Given the description of an element on the screen output the (x, y) to click on. 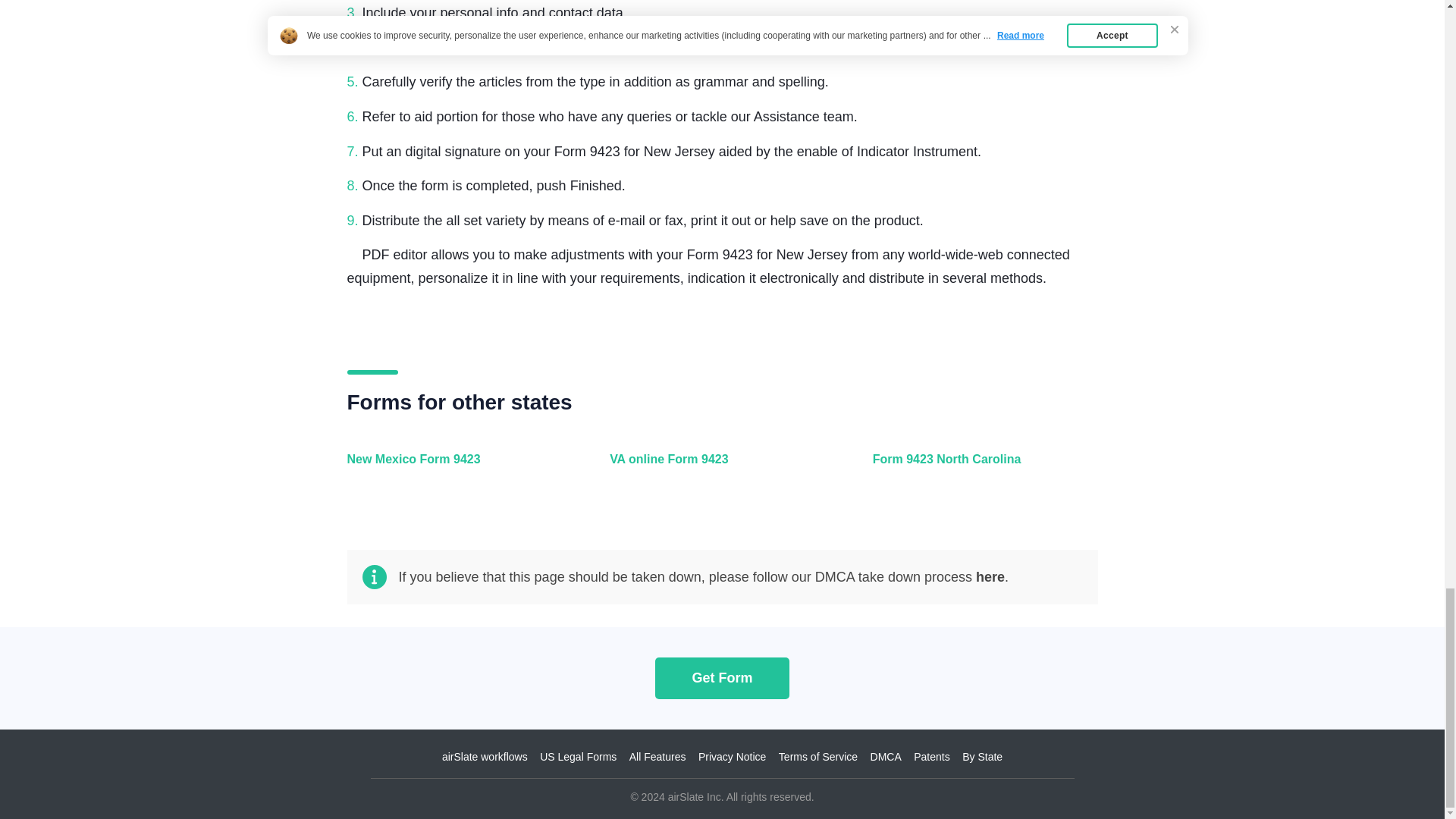
Patents (931, 756)
New Mexico Form 9423 (456, 467)
here (989, 576)
By State (982, 756)
Form 9423 North Carolina (981, 467)
US Legal Forms (577, 756)
Privacy Notice (731, 756)
Terms of Service (817, 756)
DMCA (885, 756)
All Features (656, 756)
airSlate workflows (484, 756)
VA online Form 9423 (718, 467)
Get Form (722, 677)
